Given the description of an element on the screen output the (x, y) to click on. 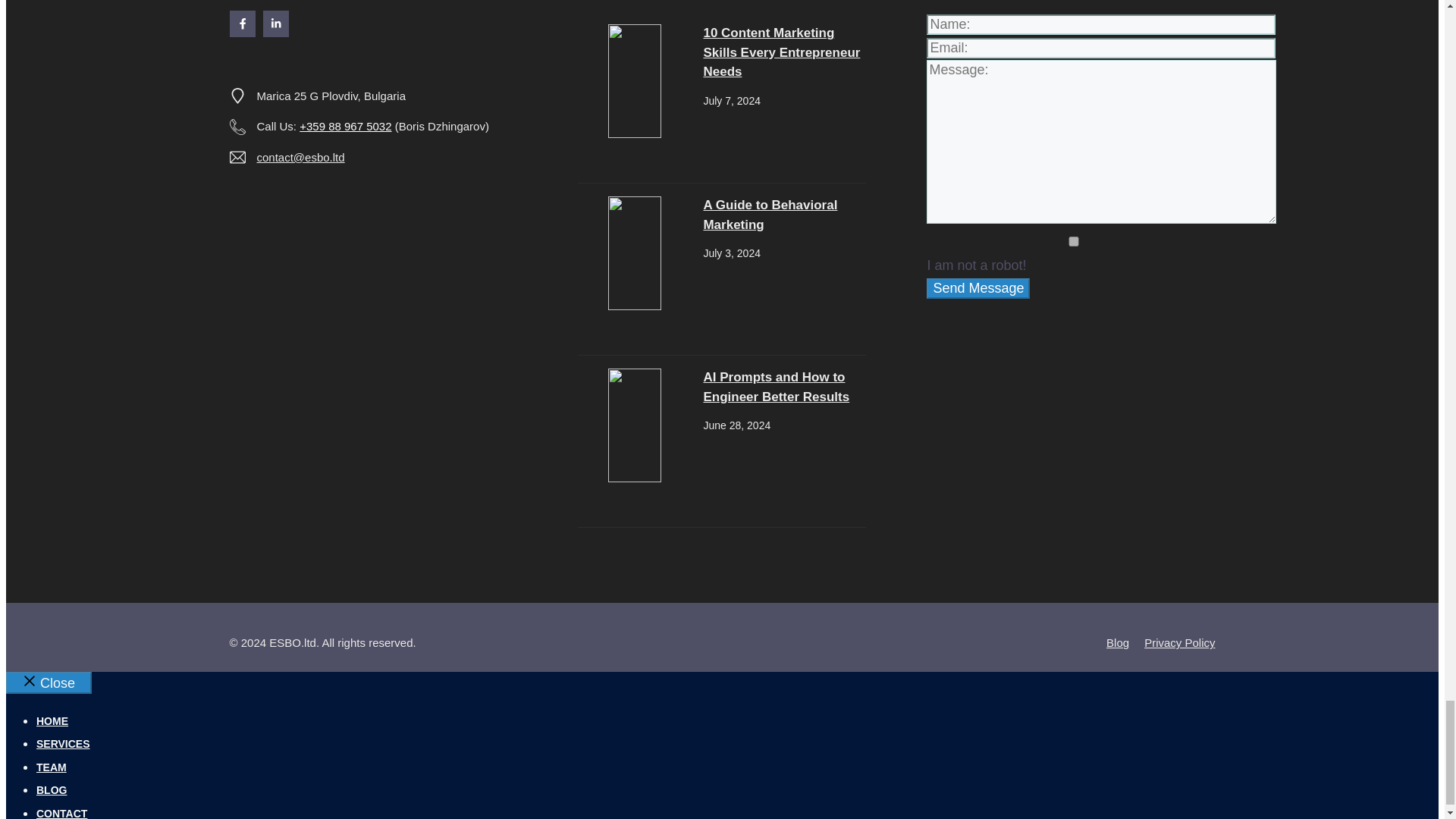
I am not a robot! (1073, 241)
Send Message (977, 288)
